Given the description of an element on the screen output the (x, y) to click on. 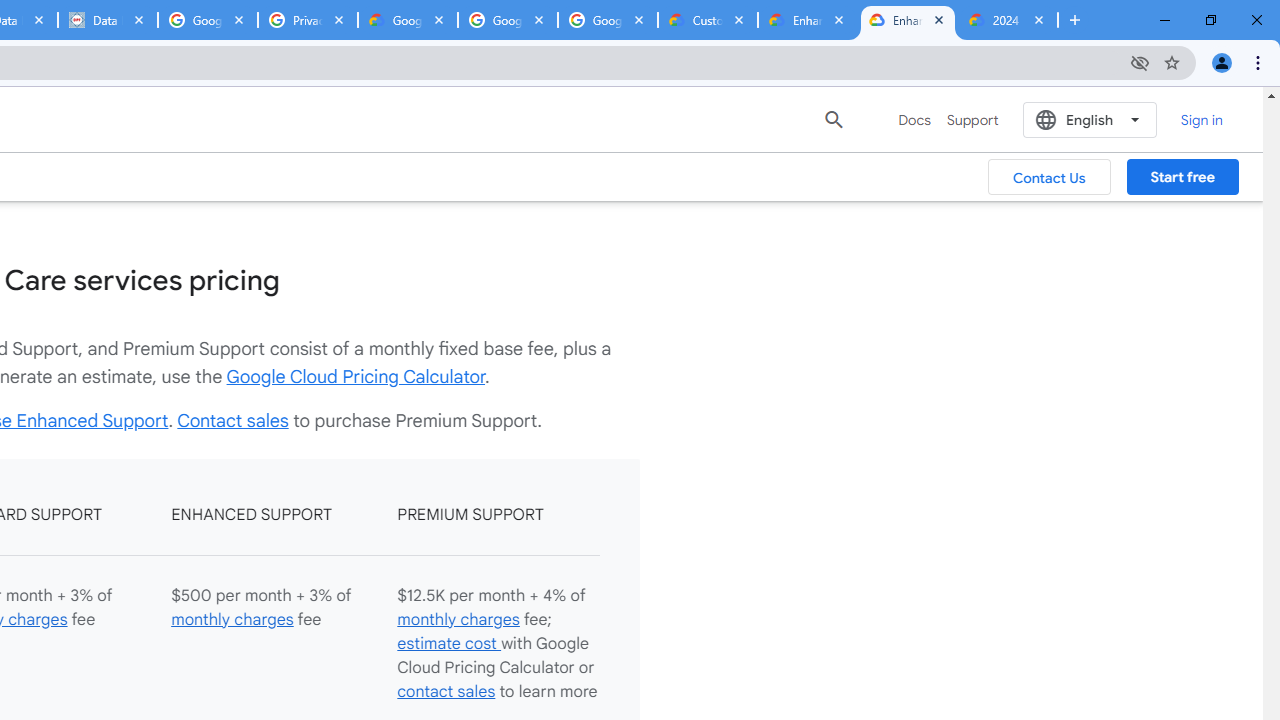
Customer Care | Google Cloud (707, 20)
monthly charges (457, 619)
contact sales (446, 691)
Media CDN (465, 117)
Data Privacy Framework (107, 20)
Assured Support (485, 76)
Enhanced Support | Google Cloud (807, 20)
Sign in (1201, 119)
